Given the description of an element on the screen output the (x, y) to click on. 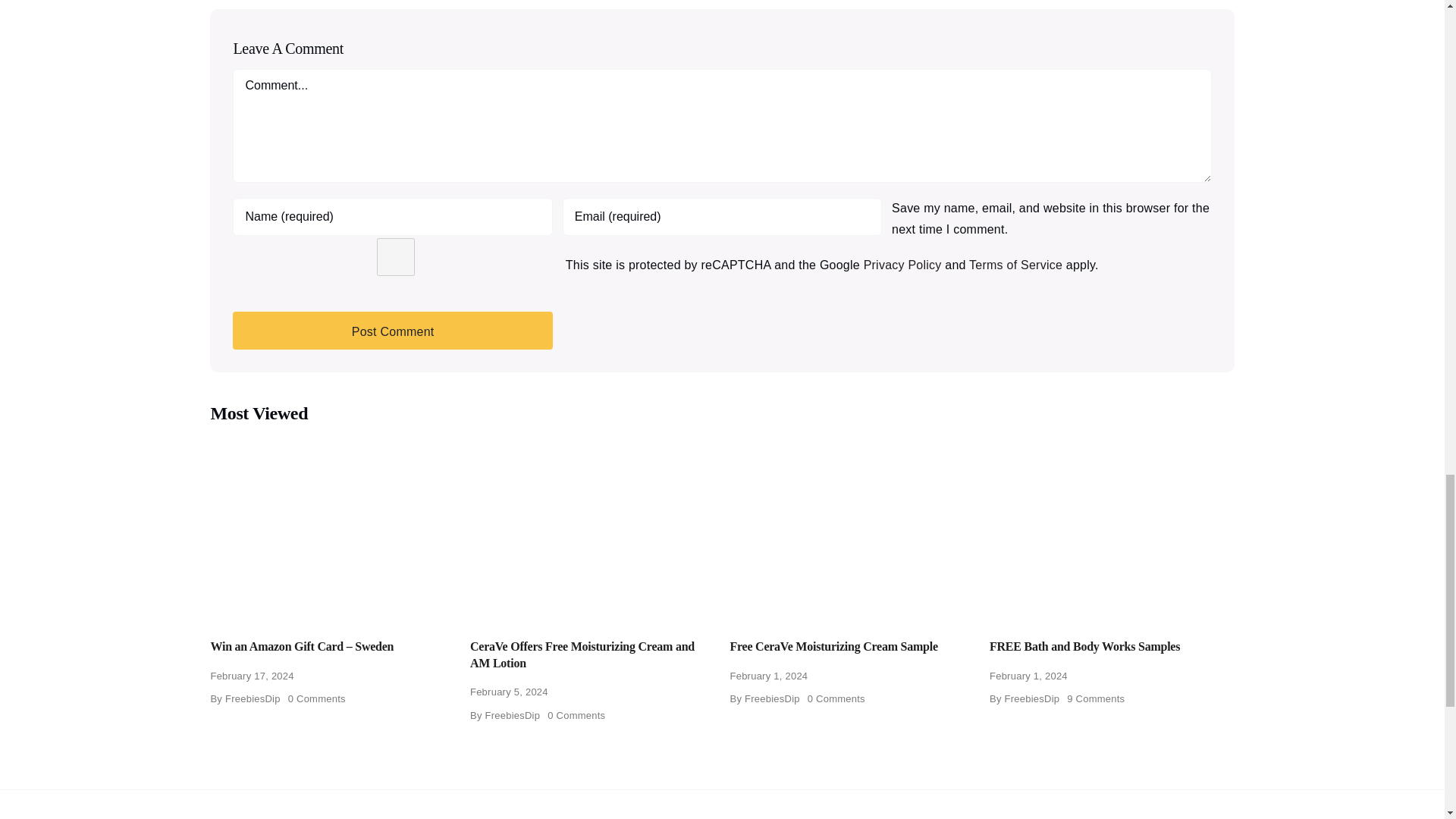
Amazon Gift Card SEK 1000 (331, 527)
Posts by FreebiesDip (771, 698)
yes (394, 257)
Post Comment (391, 330)
Posts by FreebiesDip (512, 715)
CeraVe Moisturizing Cream and AM Lotion (592, 527)
Cerave moisturizing cream sample (851, 527)
Posts by FreebiesDip (253, 698)
